Given the description of an element on the screen output the (x, y) to click on. 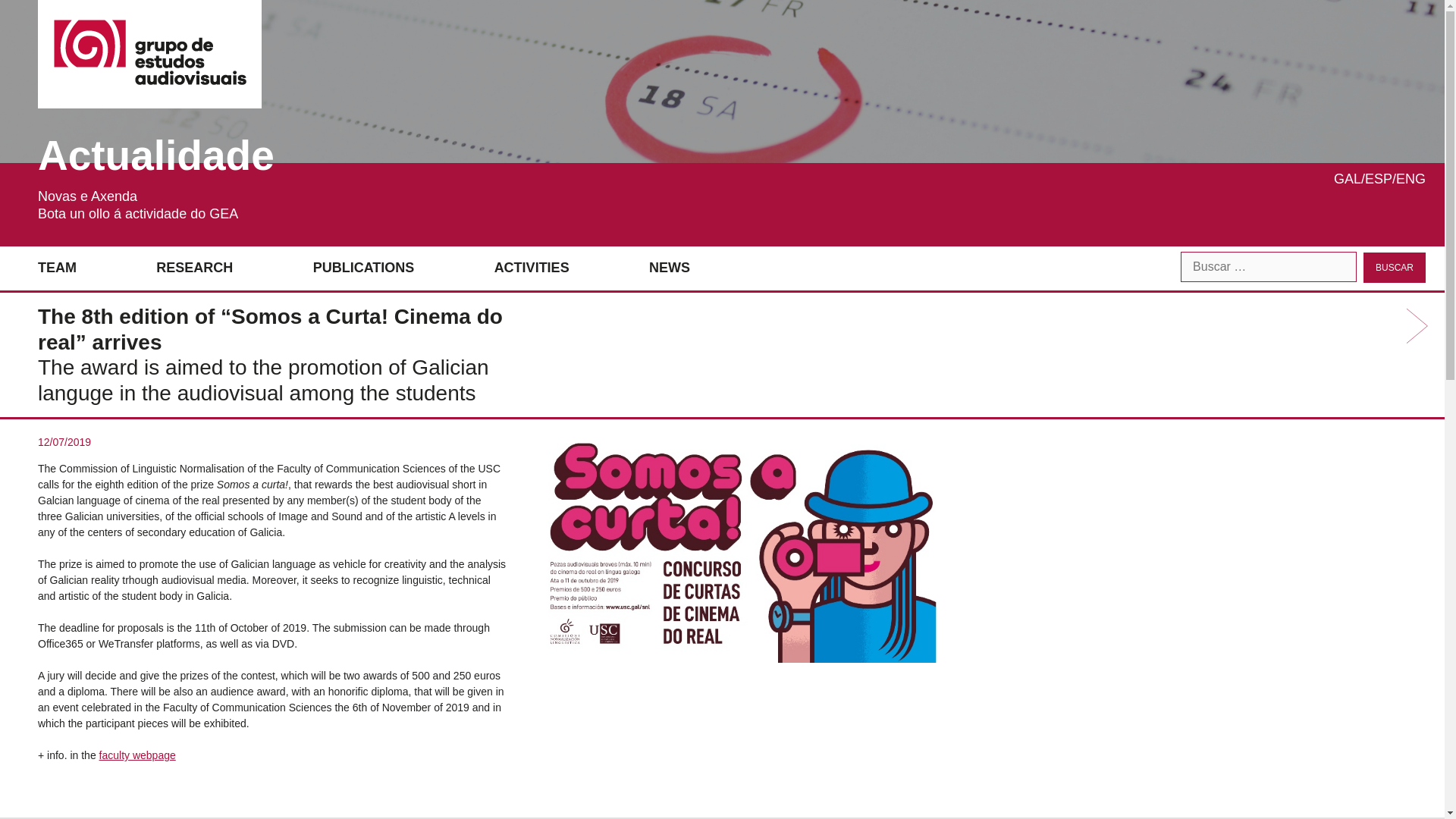
Buscar: (1268, 266)
ESP (1378, 178)
GAL (1347, 178)
Buscar (1393, 267)
NEWS (669, 267)
faculty webpage (137, 755)
PUBLICATIONS (363, 267)
RESEARCH (193, 267)
Buscar (1393, 267)
ENG (1410, 178)
TEAM (57, 267)
ACTIVITIES (532, 267)
